Given the description of an element on the screen output the (x, y) to click on. 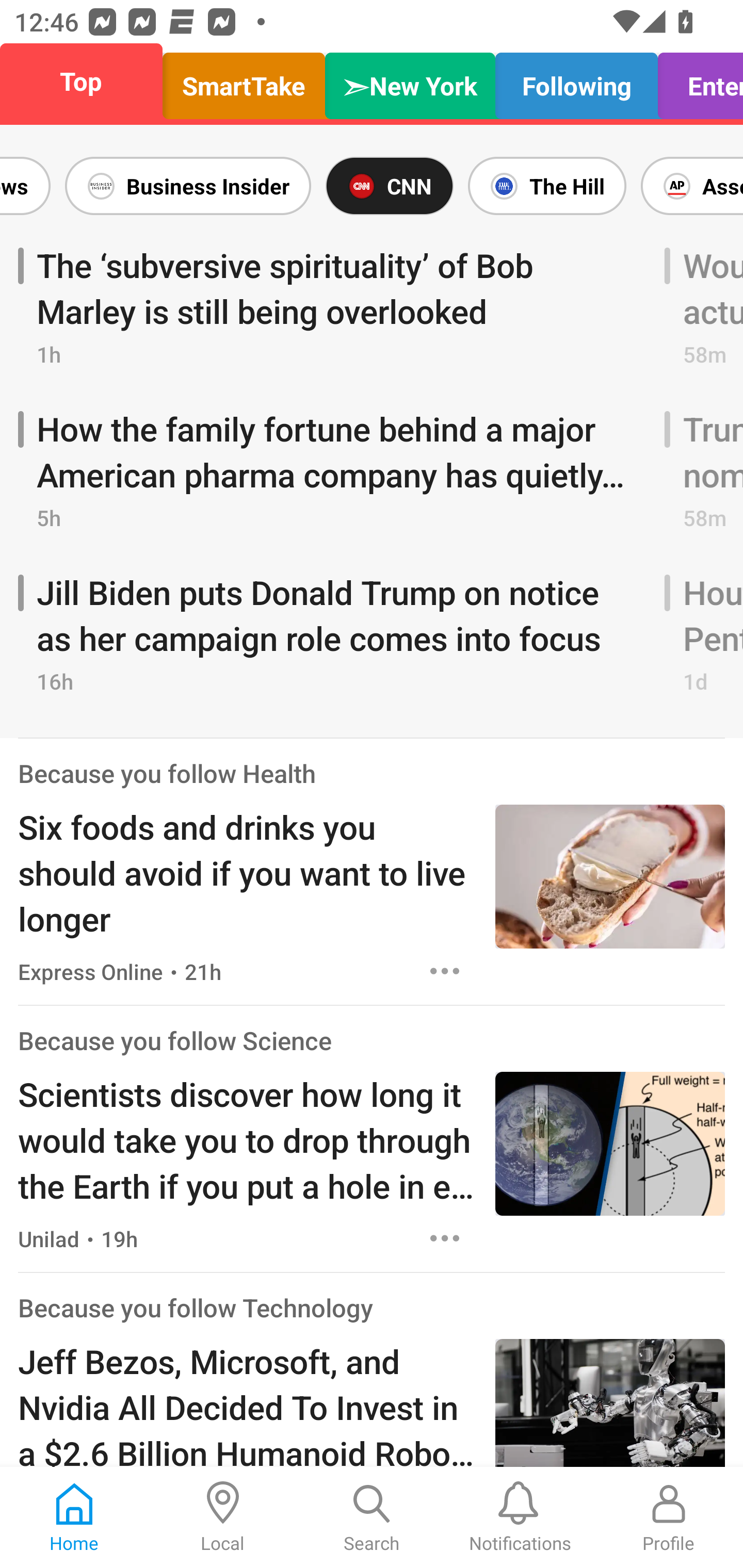
Top (86, 81)
SmartTake (243, 81)
➣New York (409, 81)
Following (576, 81)
Business Insider (187, 185)
The Hill (546, 185)
Because you follow Health (166, 772)
Options (444, 971)
Because you follow Science (174, 1039)
Options (444, 1238)
Because you follow Technology (195, 1307)
Local (222, 1517)
Search (371, 1517)
Notifications (519, 1517)
Profile (668, 1517)
